Given the description of an element on the screen output the (x, y) to click on. 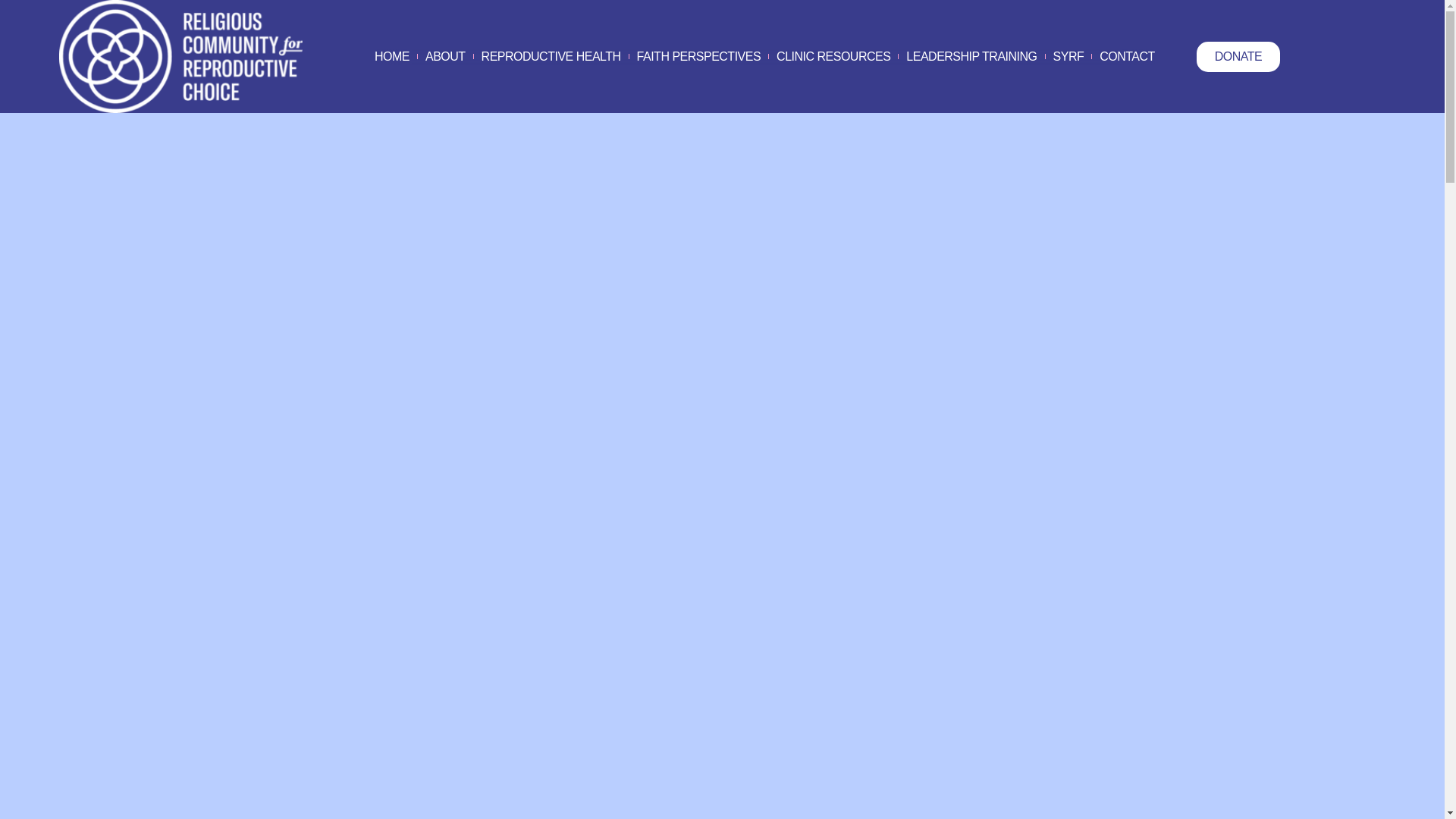
DONATE (1237, 55)
SYRF (1068, 56)
FAITH PERSPECTIVES (698, 56)
ABOUT (445, 56)
LEADERSHIP TRAINING (970, 56)
REPRODUCTIVE HEALTH (551, 56)
CONTACT (1126, 56)
CLINIC RESOURCES (832, 56)
HOME (391, 56)
